Given the description of an element on the screen output the (x, y) to click on. 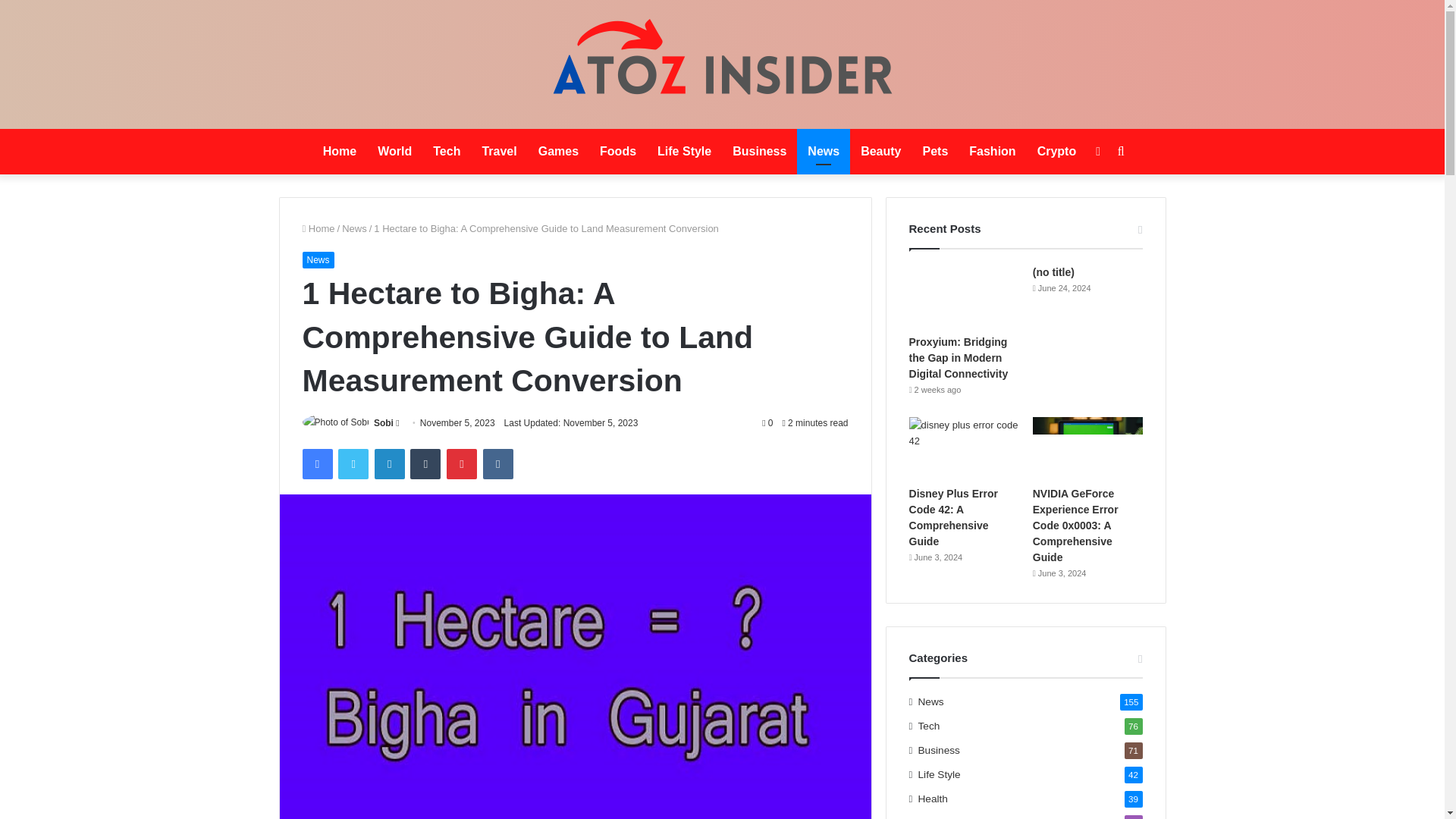
Beauty (880, 151)
Sobi (383, 422)
Pinterest (461, 463)
Games (558, 151)
Facebook (316, 463)
News (823, 151)
AtozInsider (721, 64)
World (394, 151)
Pinterest (461, 463)
Travel (498, 151)
Twitter (352, 463)
VKontakte (498, 463)
VKontakte (498, 463)
LinkedIn (389, 463)
Fashion (992, 151)
